Given the description of an element on the screen output the (x, y) to click on. 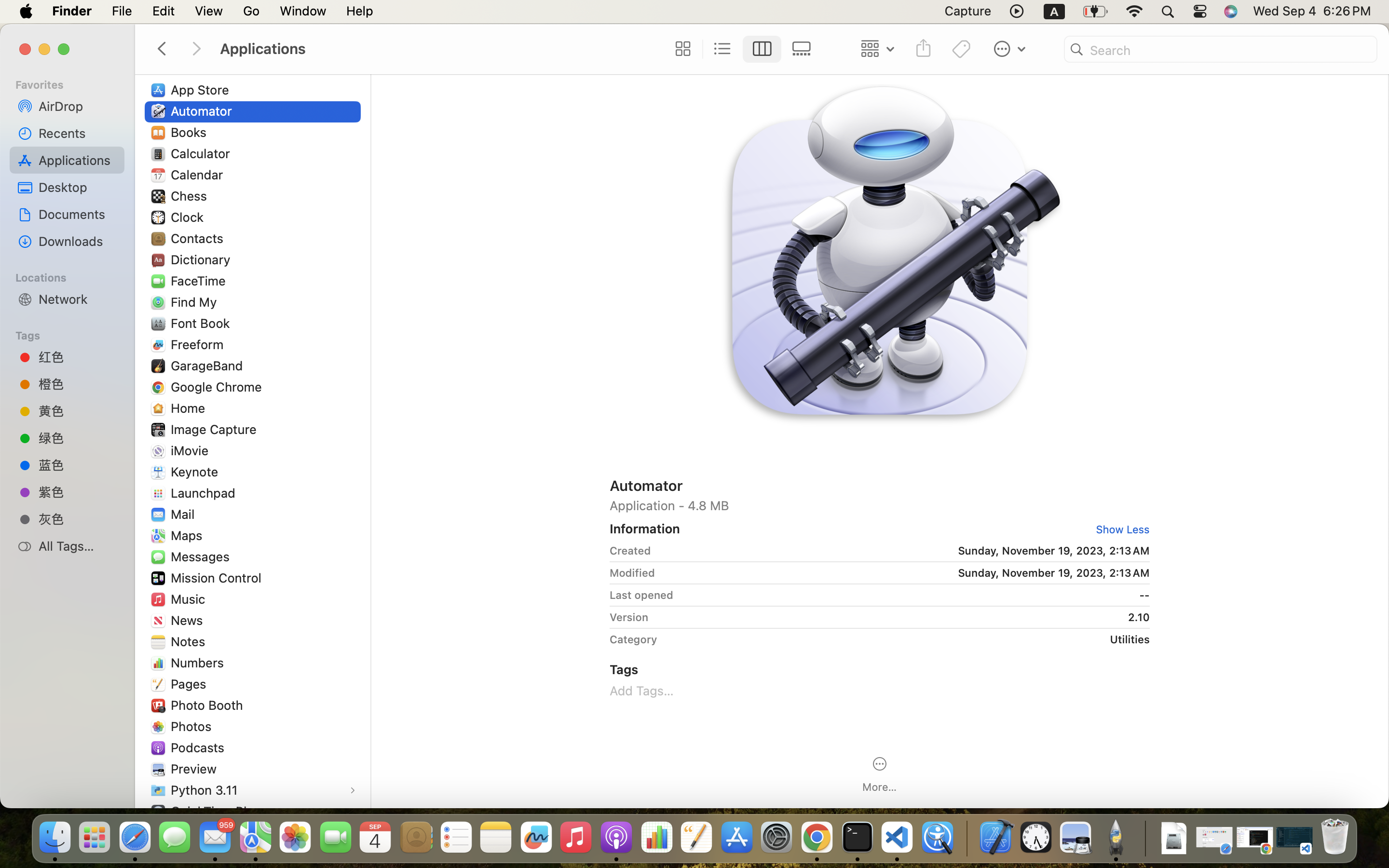
Photos Element type: AXTextField (192, 725)
Podcasts Element type: AXTextField (199, 747)
Favorites Element type: AXStaticText (72, 83)
黄色 Element type: AXStaticText (77, 410)
Numbers Element type: AXTextField (199, 662)
